Given the description of an element on the screen output the (x, y) to click on. 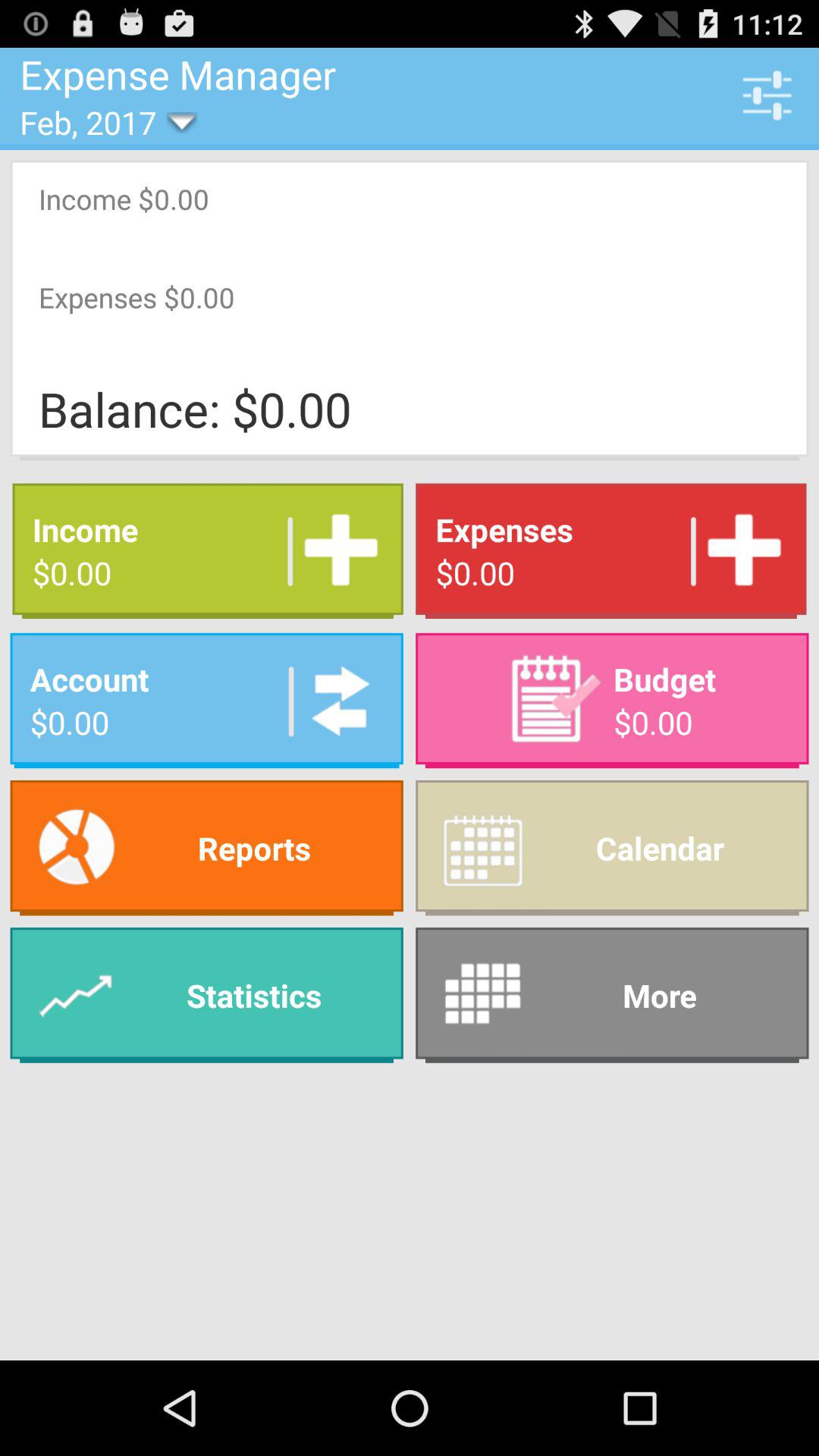
press calendar app (611, 847)
